Given the description of an element on the screen output the (x, y) to click on. 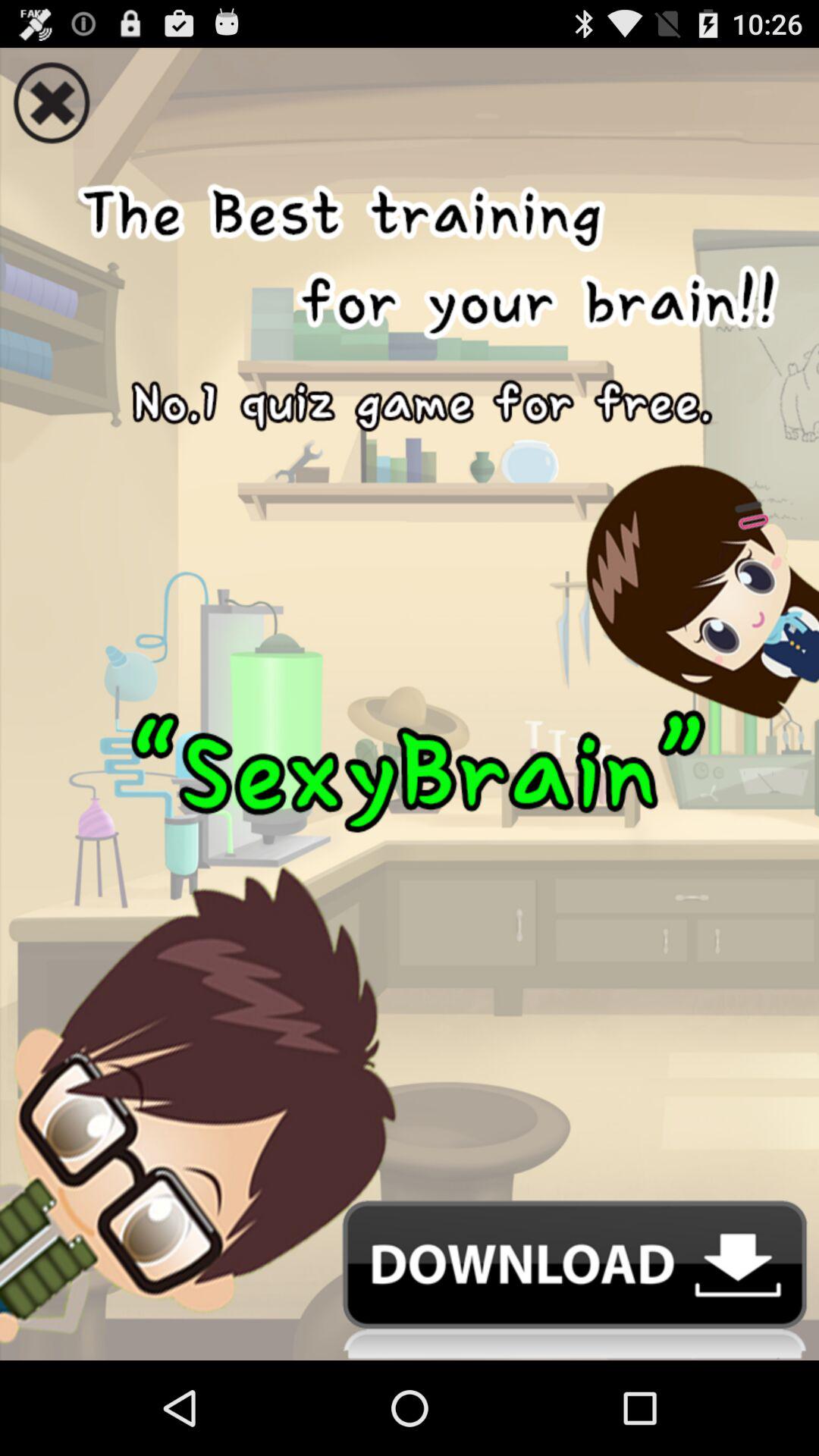
turn off the button at the center (409, 674)
